Given the description of an element on the screen output the (x, y) to click on. 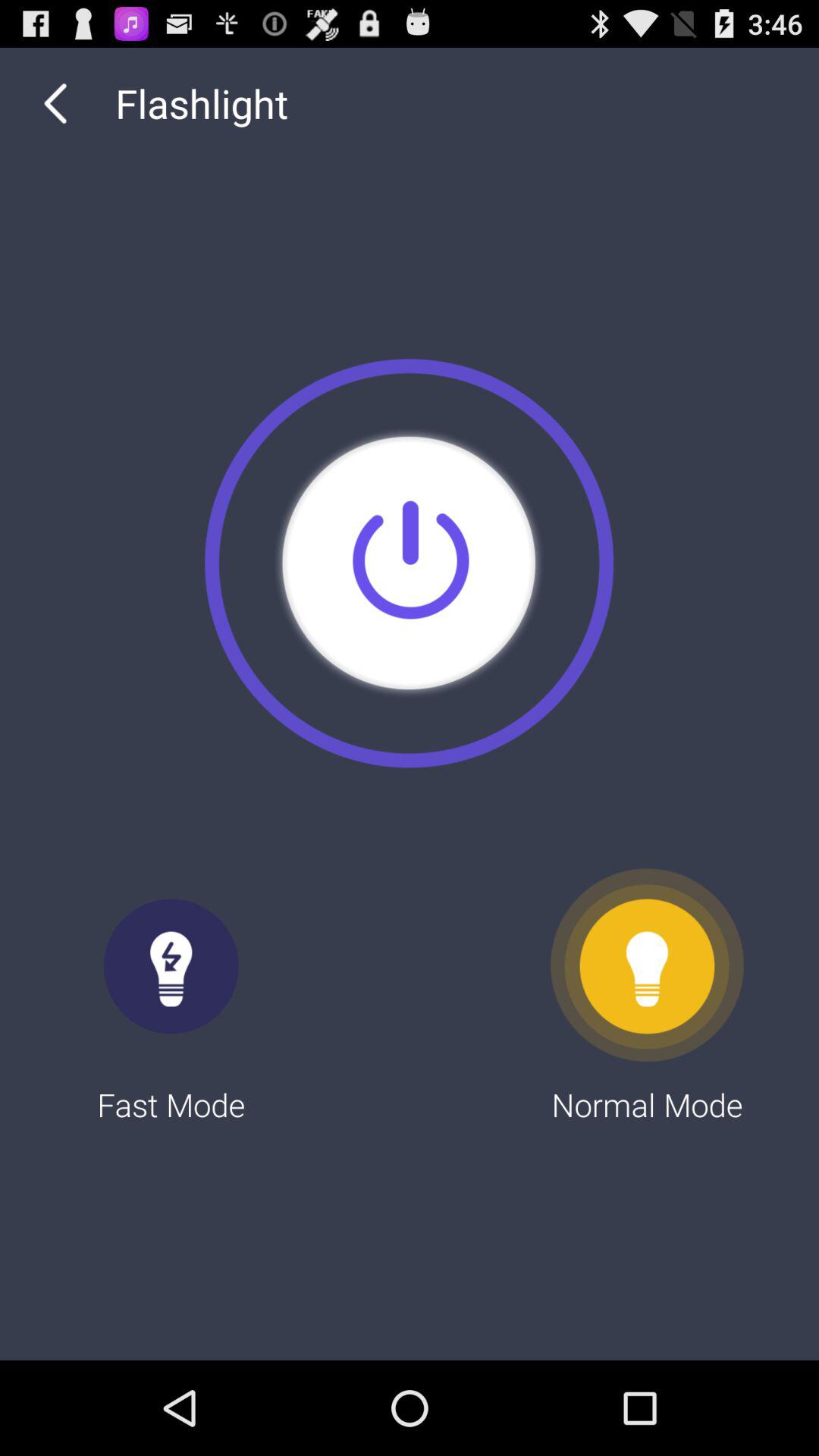
press fast mode item (171, 996)
